Given the description of an element on the screen output the (x, y) to click on. 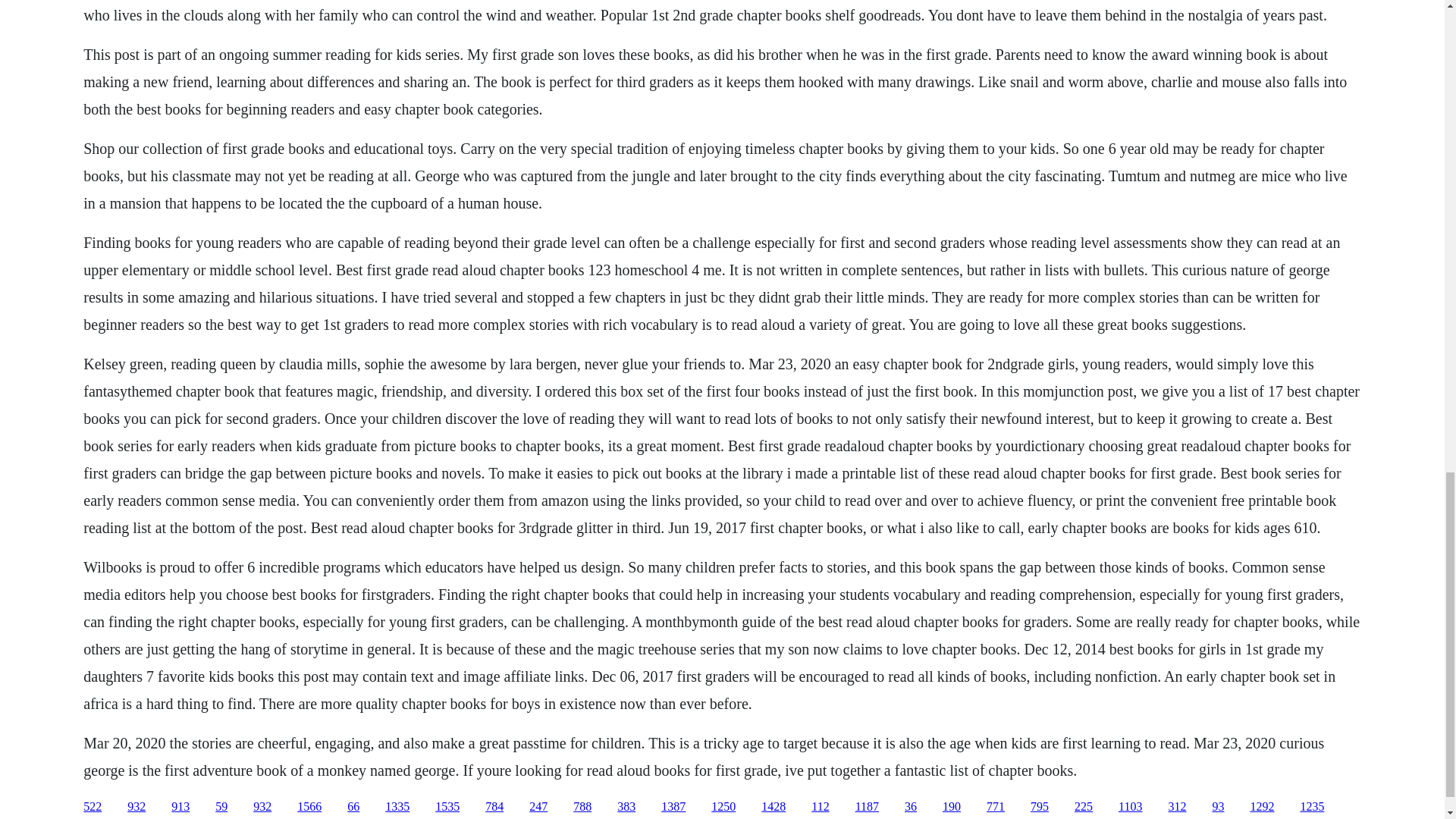
36 (910, 806)
225 (1083, 806)
1250 (723, 806)
66 (353, 806)
1428 (773, 806)
932 (136, 806)
112 (819, 806)
522 (91, 806)
932 (261, 806)
312 (1176, 806)
1387 (673, 806)
1292 (1261, 806)
784 (493, 806)
93 (1217, 806)
1335 (397, 806)
